Given the description of an element on the screen output the (x, y) to click on. 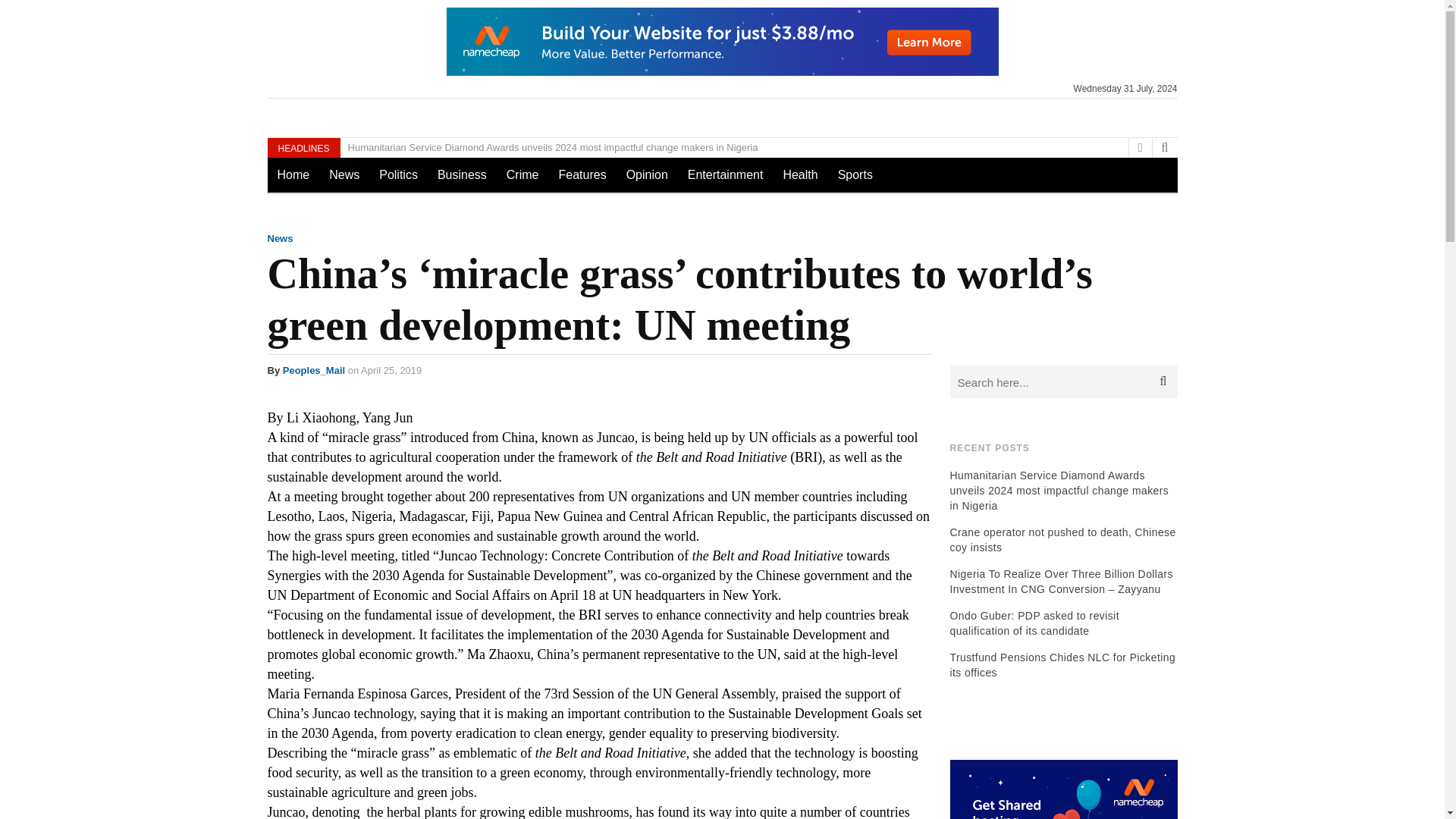
Business (462, 175)
Features (581, 175)
Politics (398, 175)
Home (292, 175)
News (279, 238)
Entertainment (725, 175)
Opinion (646, 175)
Health (800, 175)
News (343, 175)
Crime (522, 175)
Sports (855, 175)
